Given the description of an element on the screen output the (x, y) to click on. 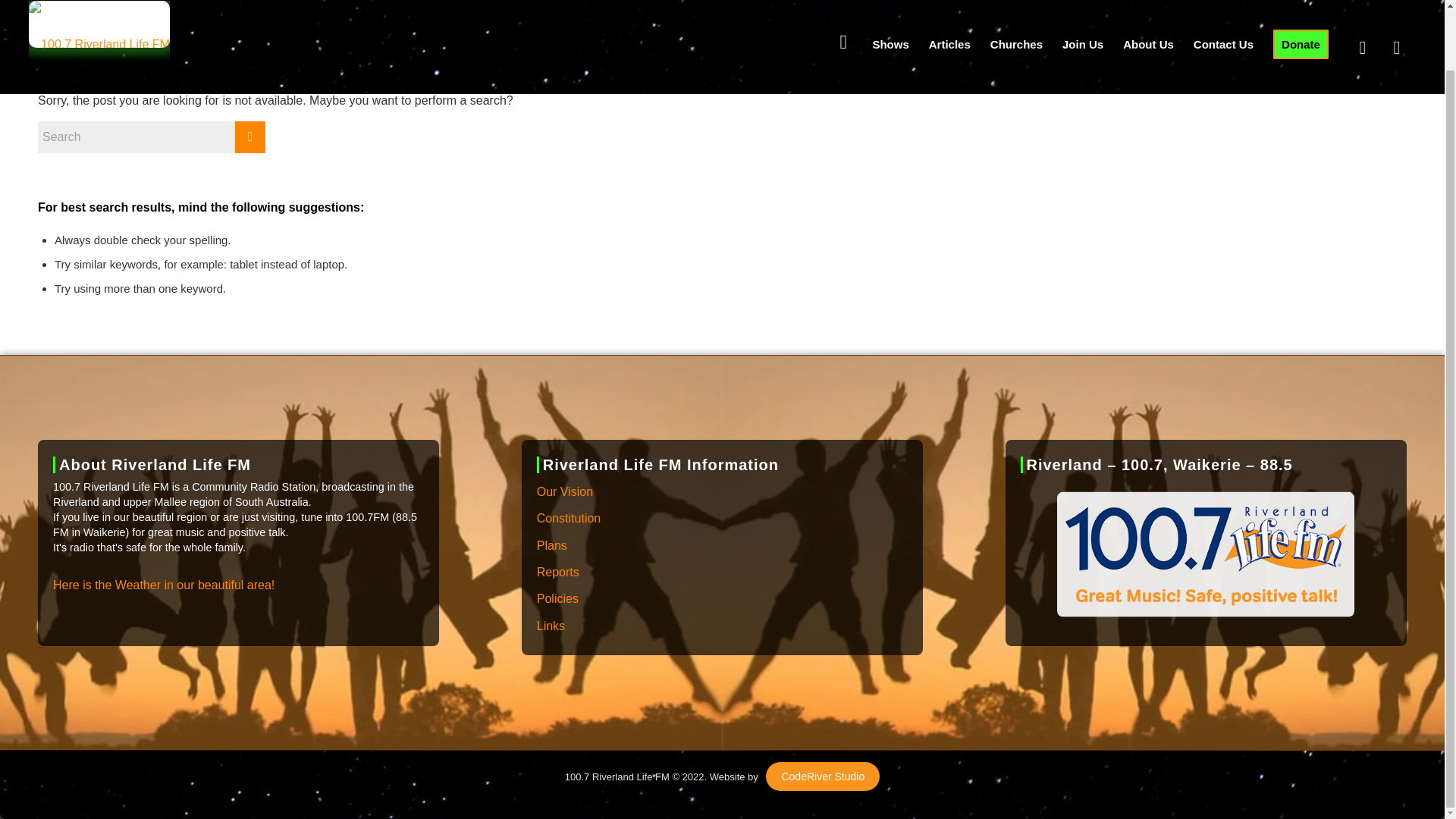
Churches (1015, 11)
Articles (948, 11)
Shows (889, 11)
Donate (1300, 11)
Join Us (1082, 11)
Here is the Weather in our beautiful area! (163, 585)
Plans (722, 546)
About Us (1148, 11)
Constitution (722, 519)
Our Vision (722, 492)
Contact Us (1223, 11)
